Given the description of an element on the screen output the (x, y) to click on. 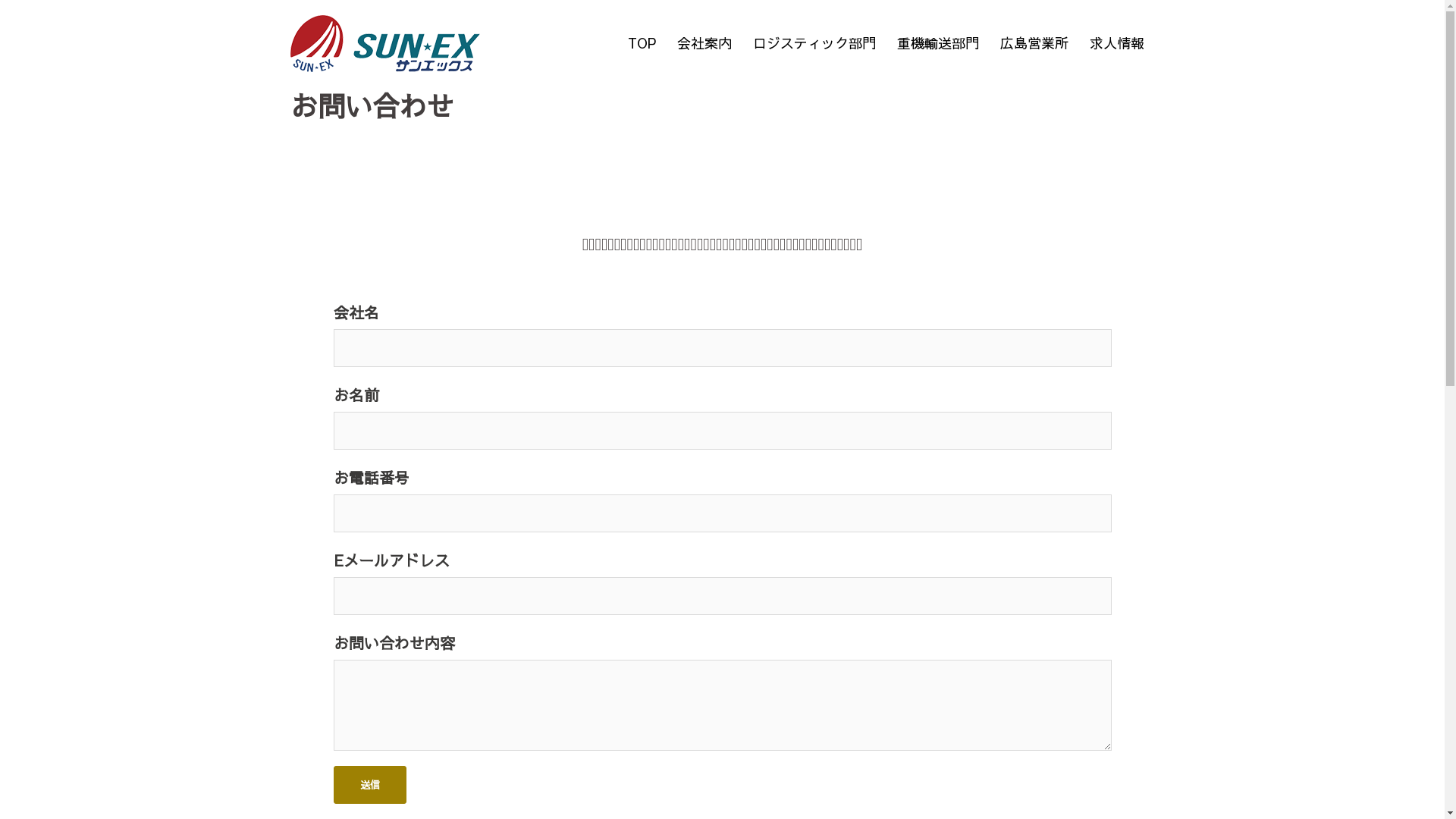
TOP Element type: text (641, 43)
Skip to content Element type: text (0, 0)
